Given the description of an element on the screen output the (x, y) to click on. 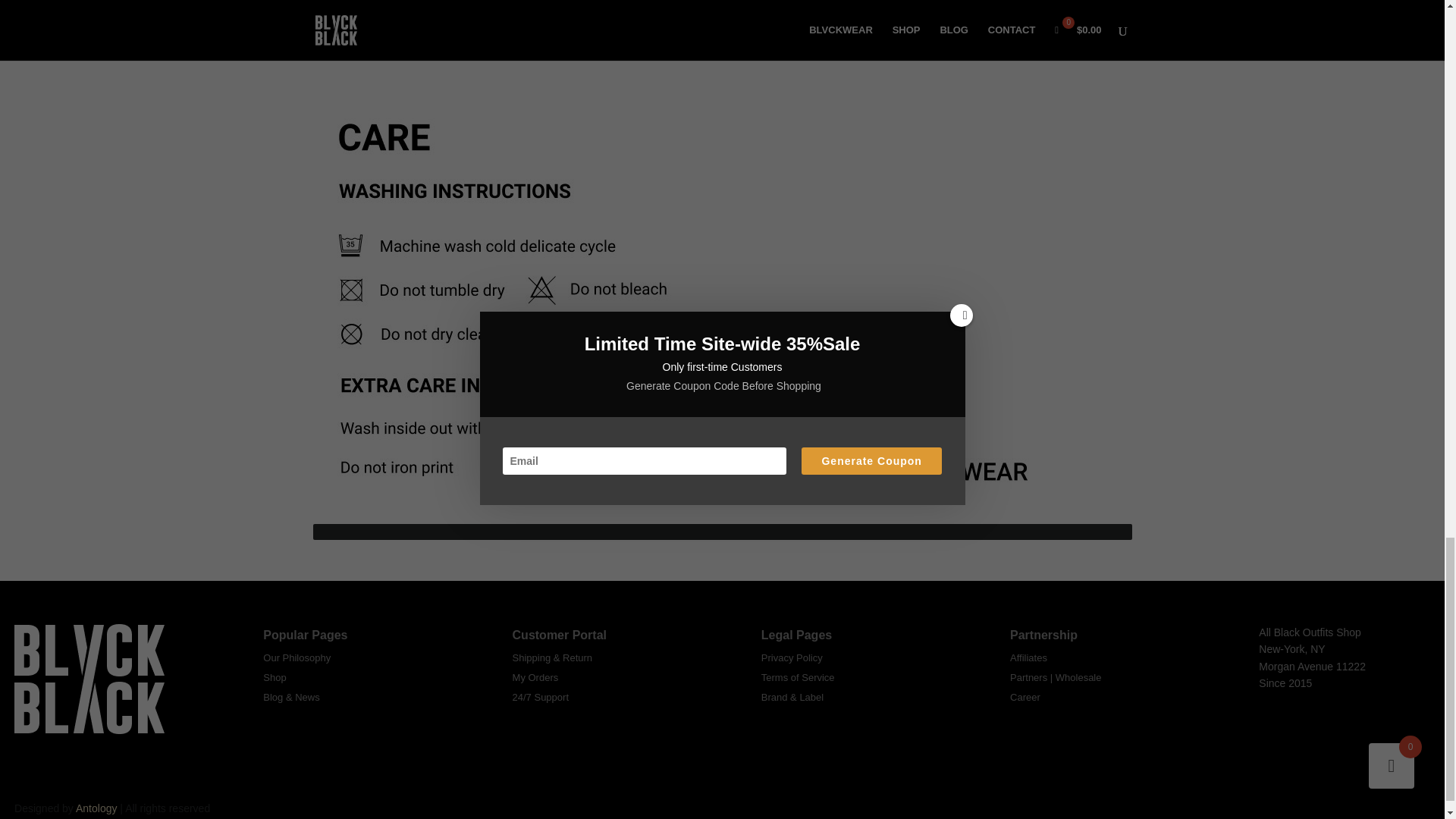
Our Philosophy (296, 657)
Shop (274, 677)
All black outfits black clothes (89, 678)
Witcher Shield (828, 2)
Black Warrior Tactical Pants (1040, 2)
